Given the description of an element on the screen output the (x, y) to click on. 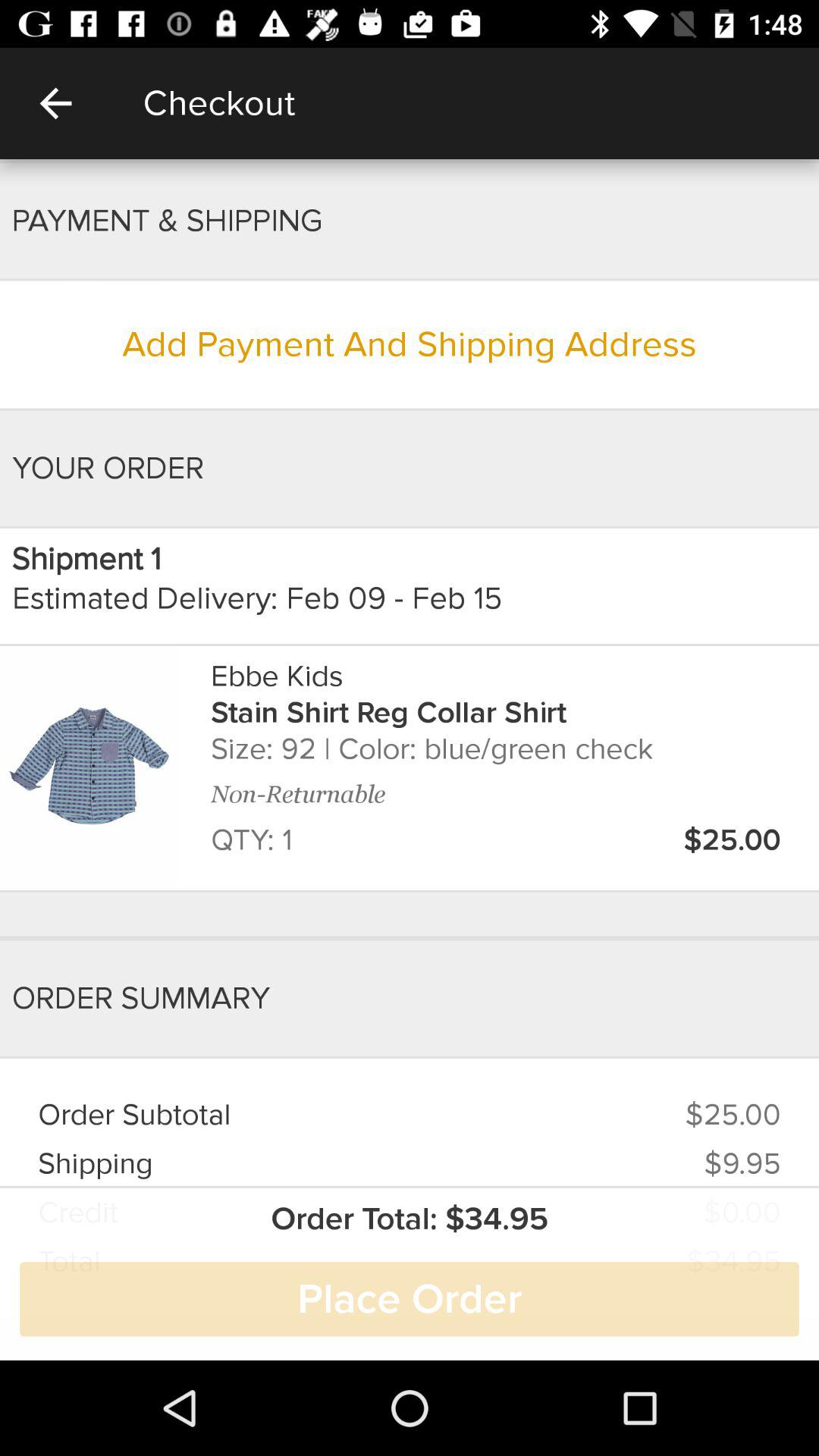
swipe to the place order item (409, 1299)
